Given the description of an element on the screen output the (x, y) to click on. 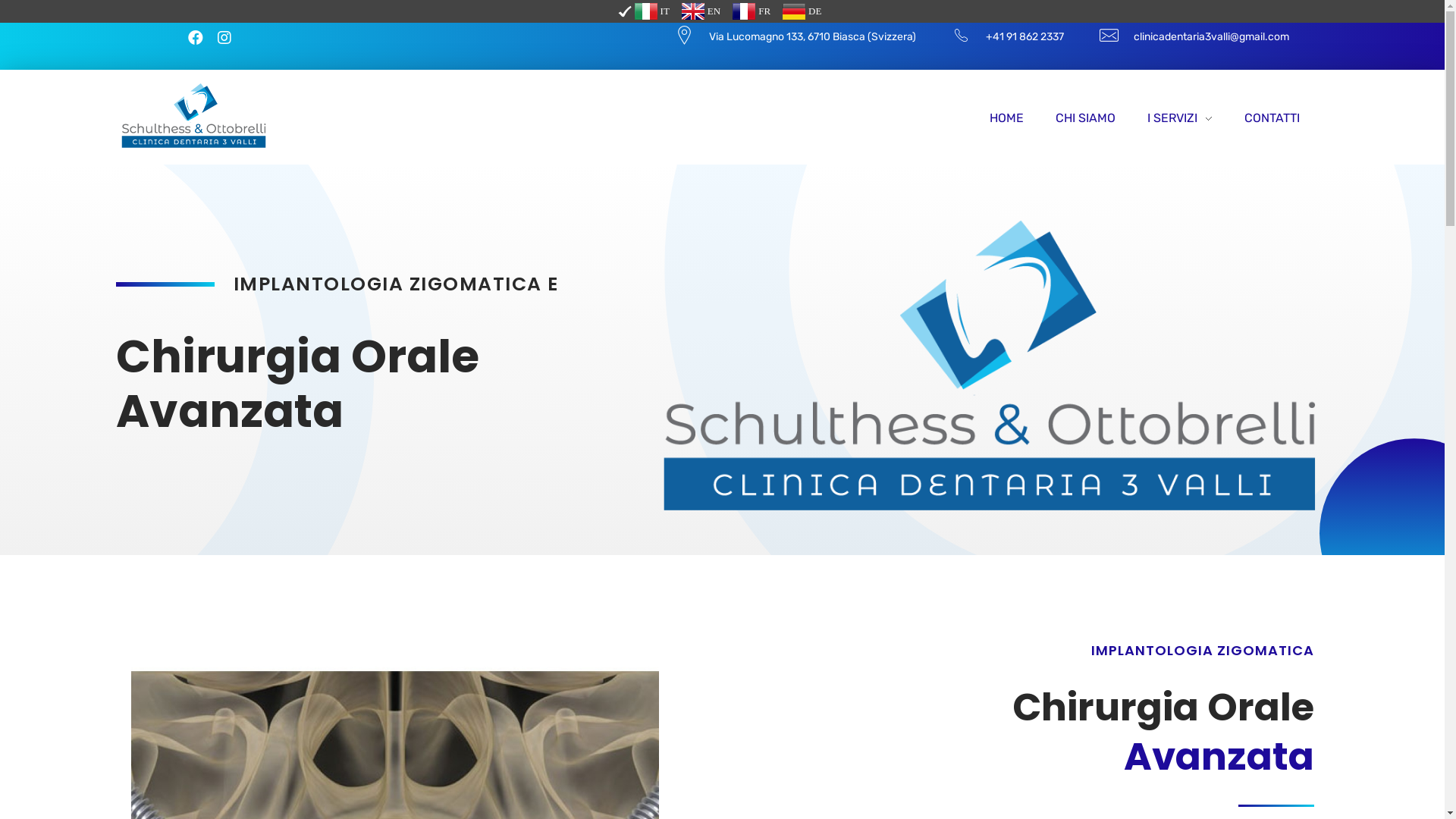
IT Element type: text (646, 11)
CONTATTI Element type: text (1263, 118)
EN Element type: text (700, 11)
I SERVIZI Element type: text (1179, 118)
DE Element type: text (801, 11)
FR Element type: text (751, 11)
HOME Element type: text (1014, 118)
Clinica Dentaria 3 Valli Element type: hover (192, 114)
CHI SIAMO Element type: text (1085, 118)
Clinica Dentaria 3 Valli Element type: text (212, 156)
